Given the description of an element on the screen output the (x, y) to click on. 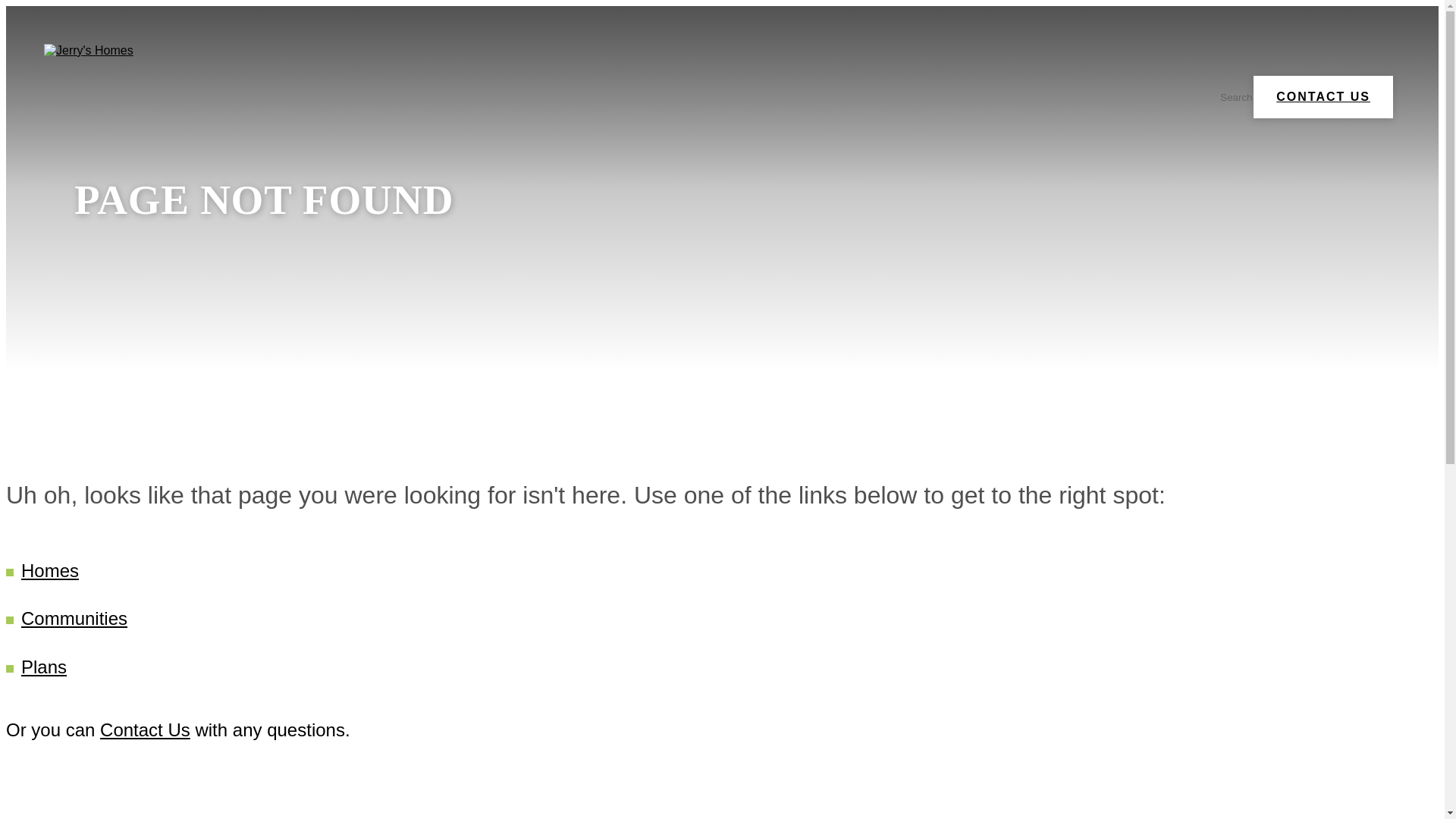
CONTACT US (1323, 96)
Homes (49, 570)
Plans (43, 666)
Communities (74, 618)
Search (1227, 96)
Contact Us (145, 729)
